Given the description of an element on the screen output the (x, y) to click on. 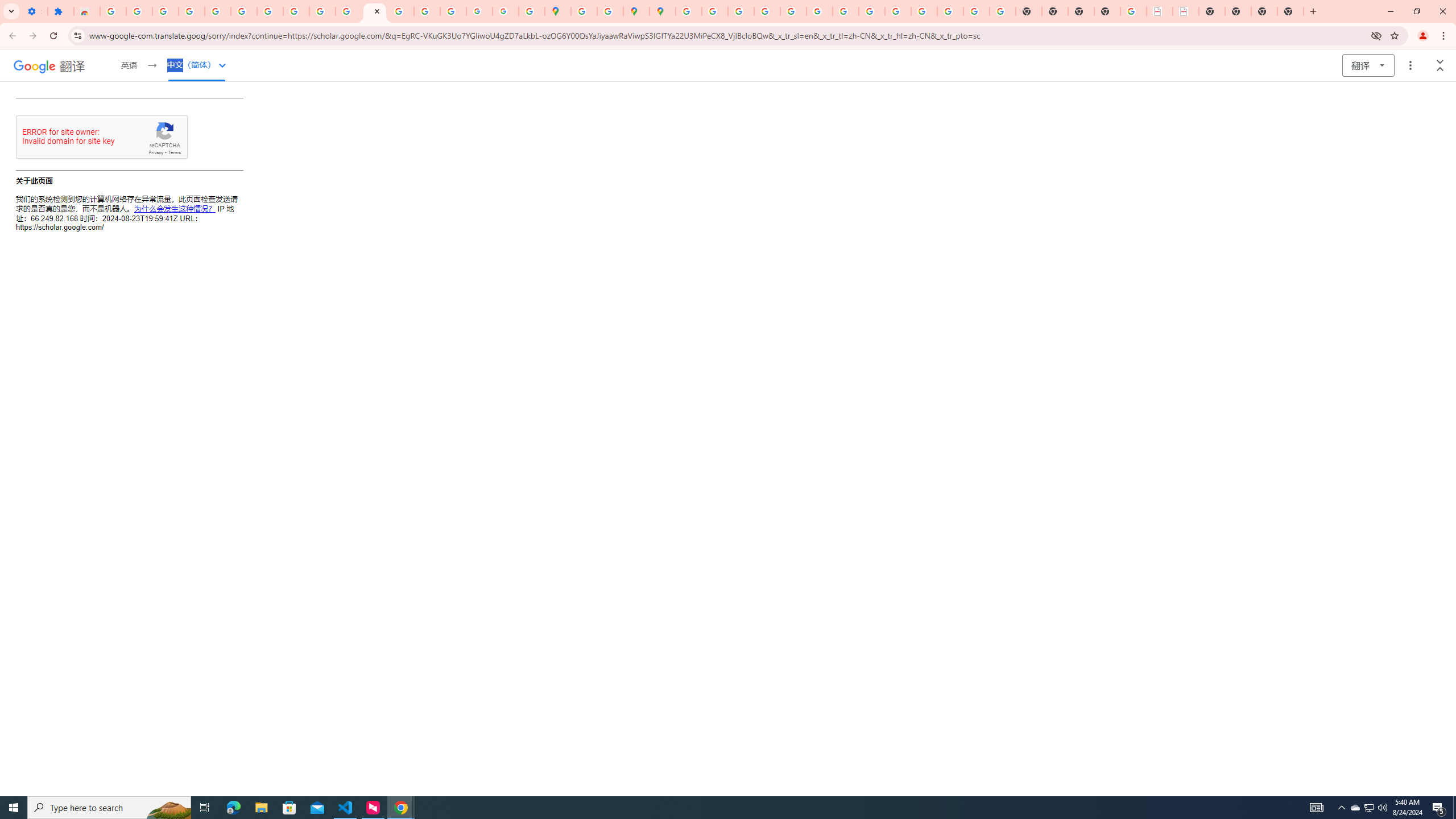
Google Account (296, 11)
Safety in Our Products - Google Safety Center (610, 11)
https://scholar.google.com/ (374, 11)
YouTube (845, 11)
